Given the description of an element on the screen output the (x, y) to click on. 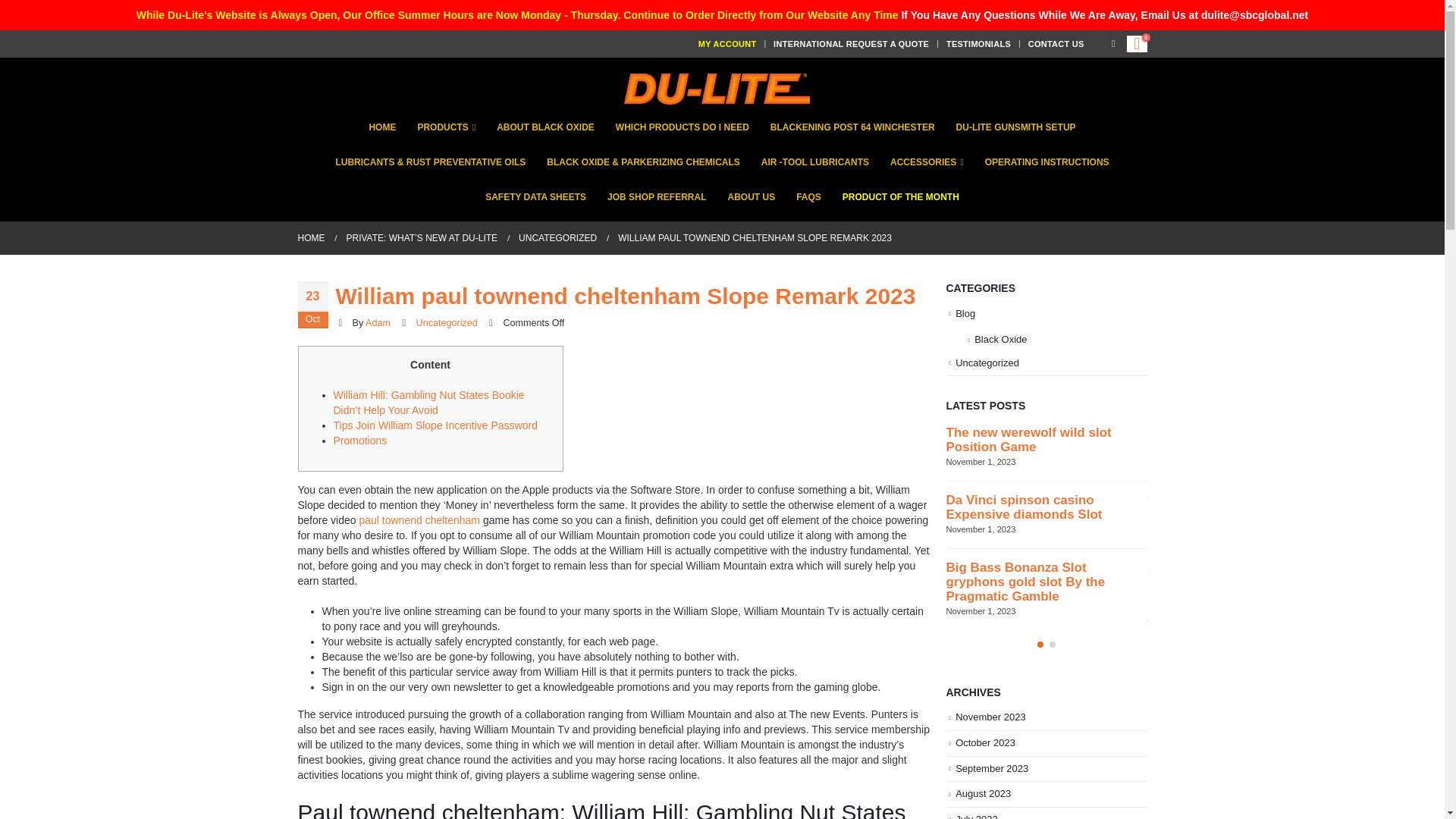
Posts by Adam (377, 322)
TESTIMONIALS (978, 43)
INTERNATIONAL REQUEST A QUOTE (851, 43)
Go to Home Page (310, 237)
MY ACCOUNT (729, 43)
CONTACT US (1056, 43)
